Given the description of an element on the screen output the (x, y) to click on. 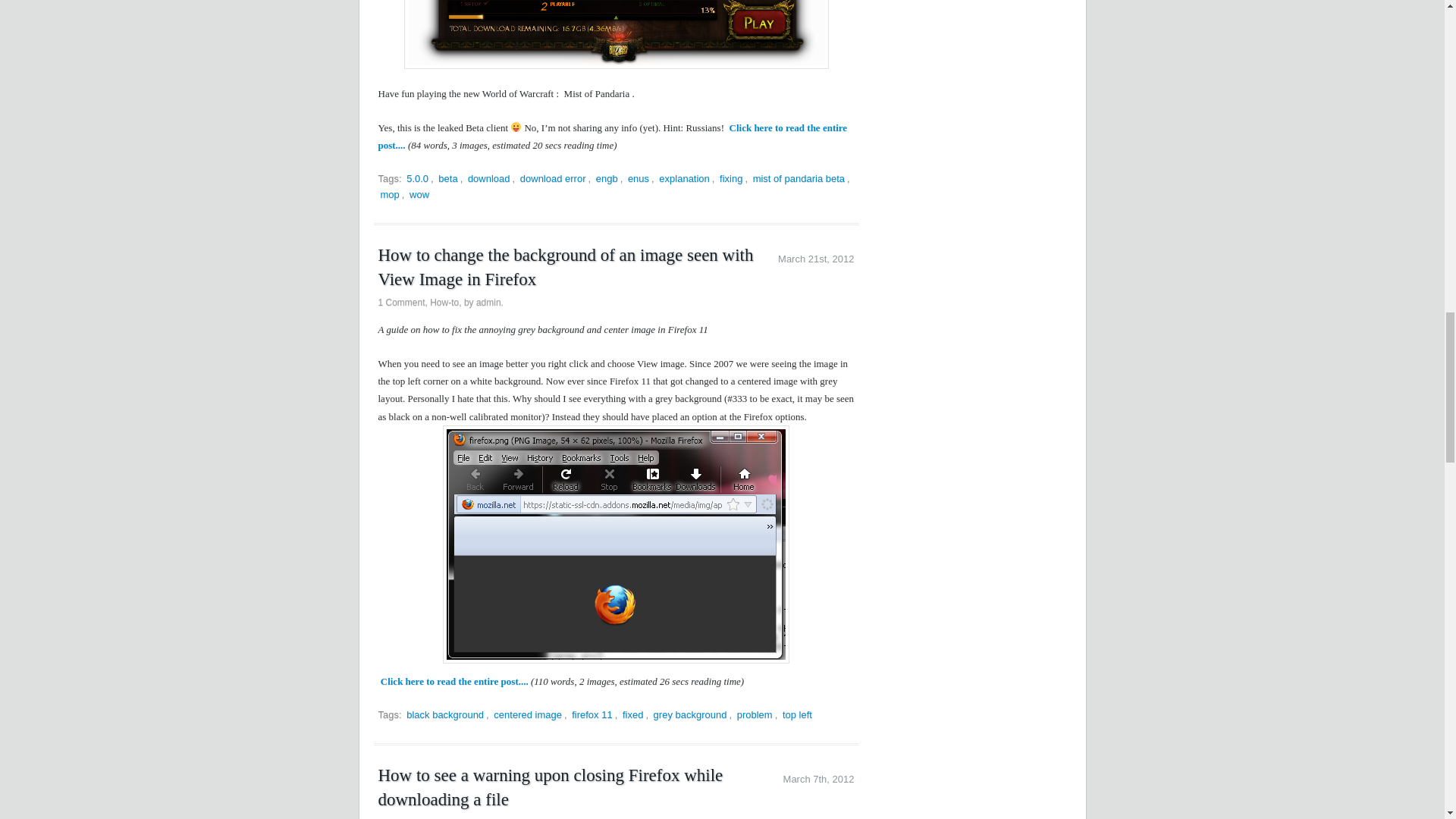
5.0.0 (417, 178)
download (488, 178)
firefox-grey background centered (615, 544)
download error (553, 178)
wow download error fixed (615, 34)
beta (447, 178)
Click here to read the entire post.... (612, 136)
